Given the description of an element on the screen output the (x, y) to click on. 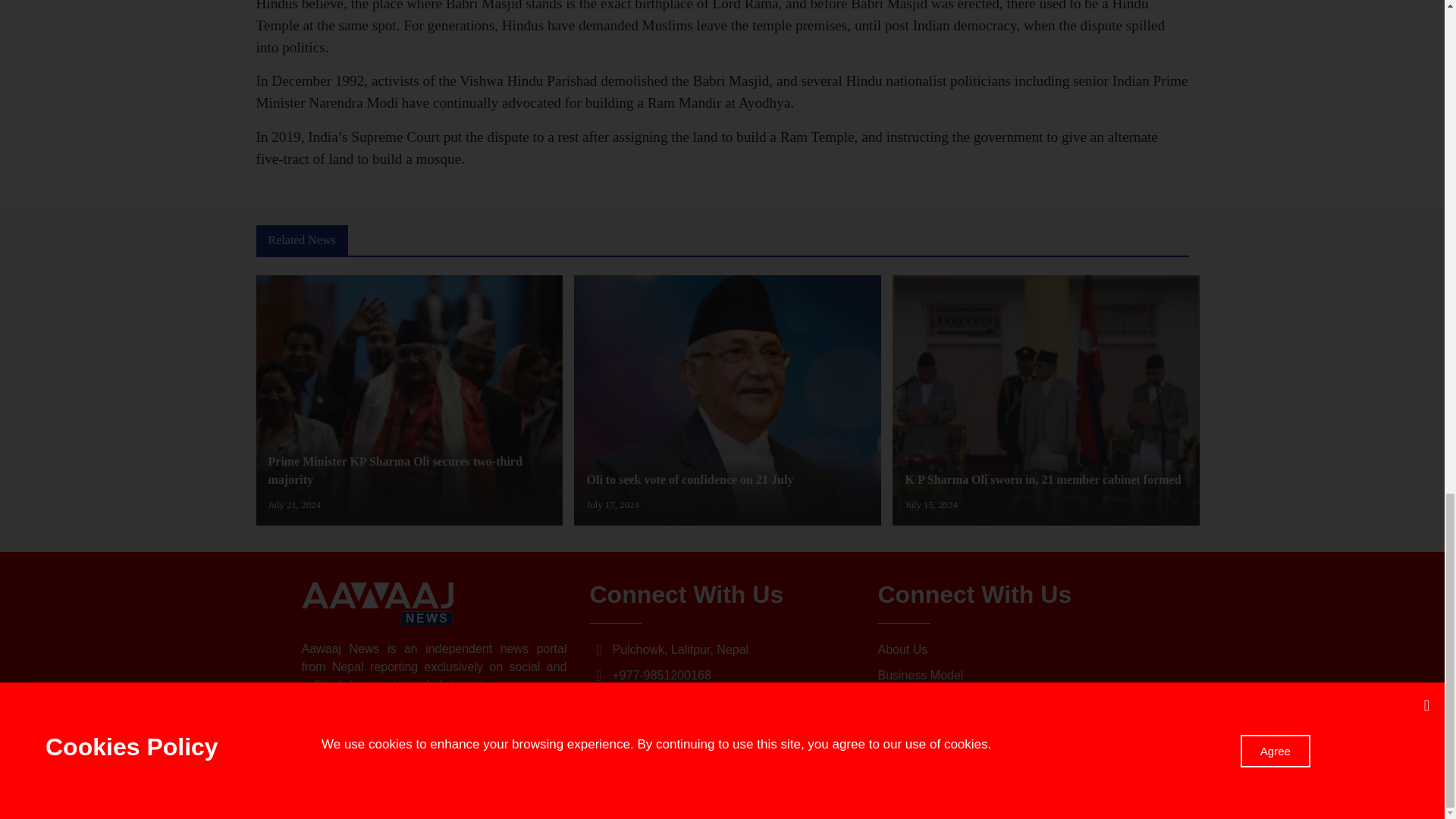
Business Model (1009, 675)
About Us (1009, 649)
Privacy Policy (1009, 701)
